Given the description of an element on the screen output the (x, y) to click on. 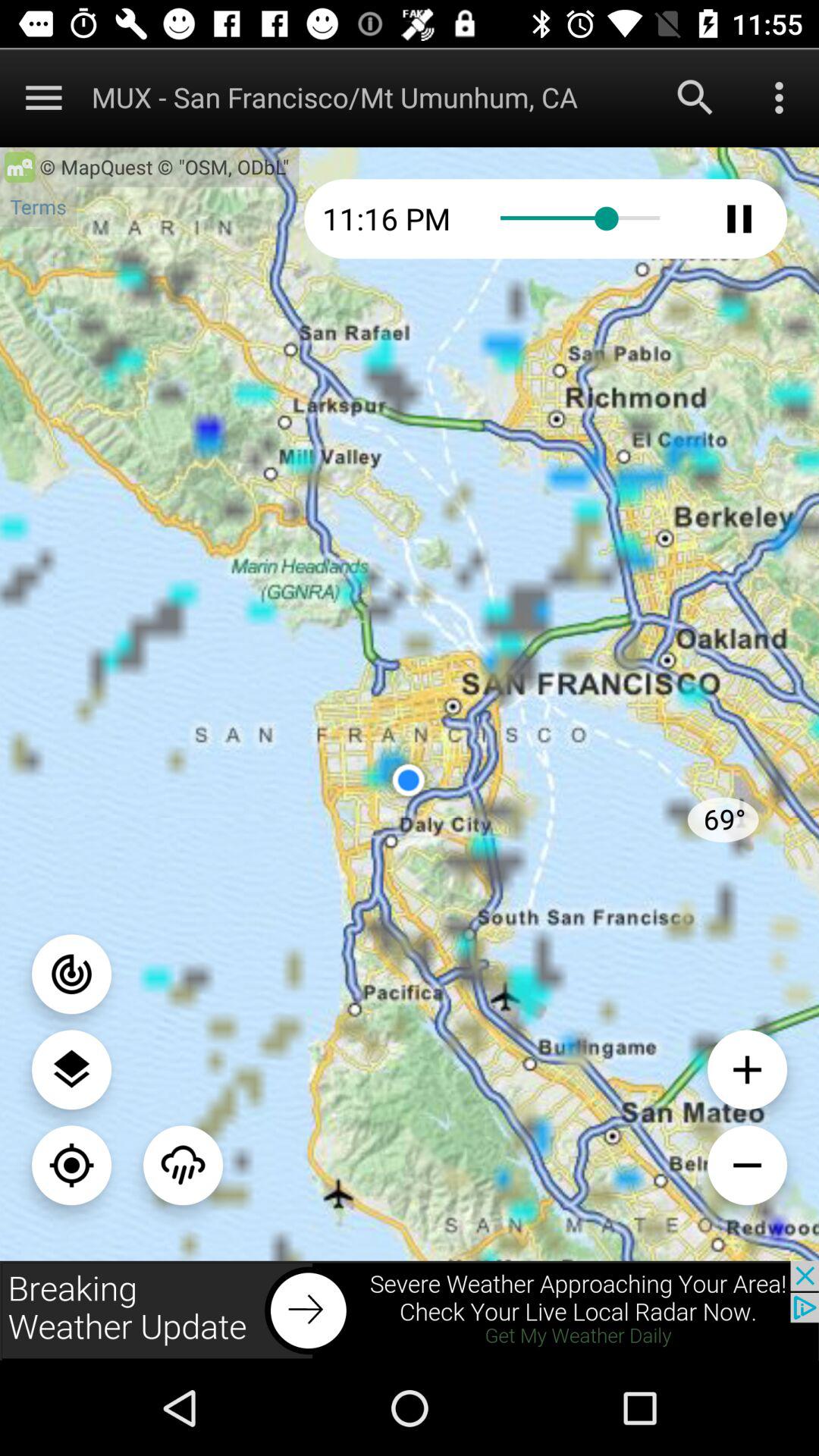
see the menu (71, 1069)
